Given the description of an element on the screen output the (x, y) to click on. 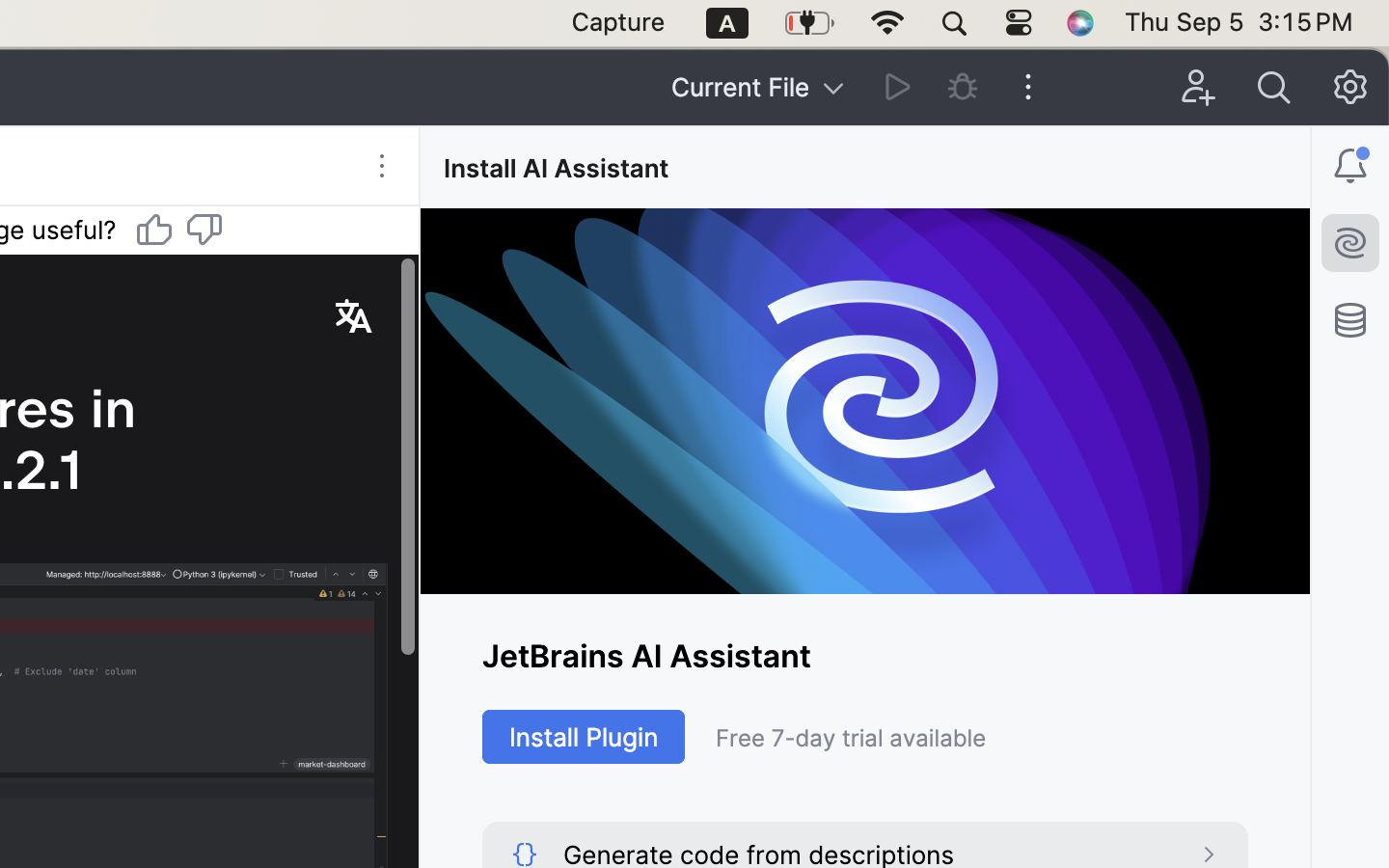
Install AI Assistant Element type: AXStaticText (560, 167)
JetBrains AI Assistant Element type: AXTextField (865, 655)
Free 7-day trial available Element type: AXTextField (981, 737)
